Given the description of an element on the screen output the (x, y) to click on. 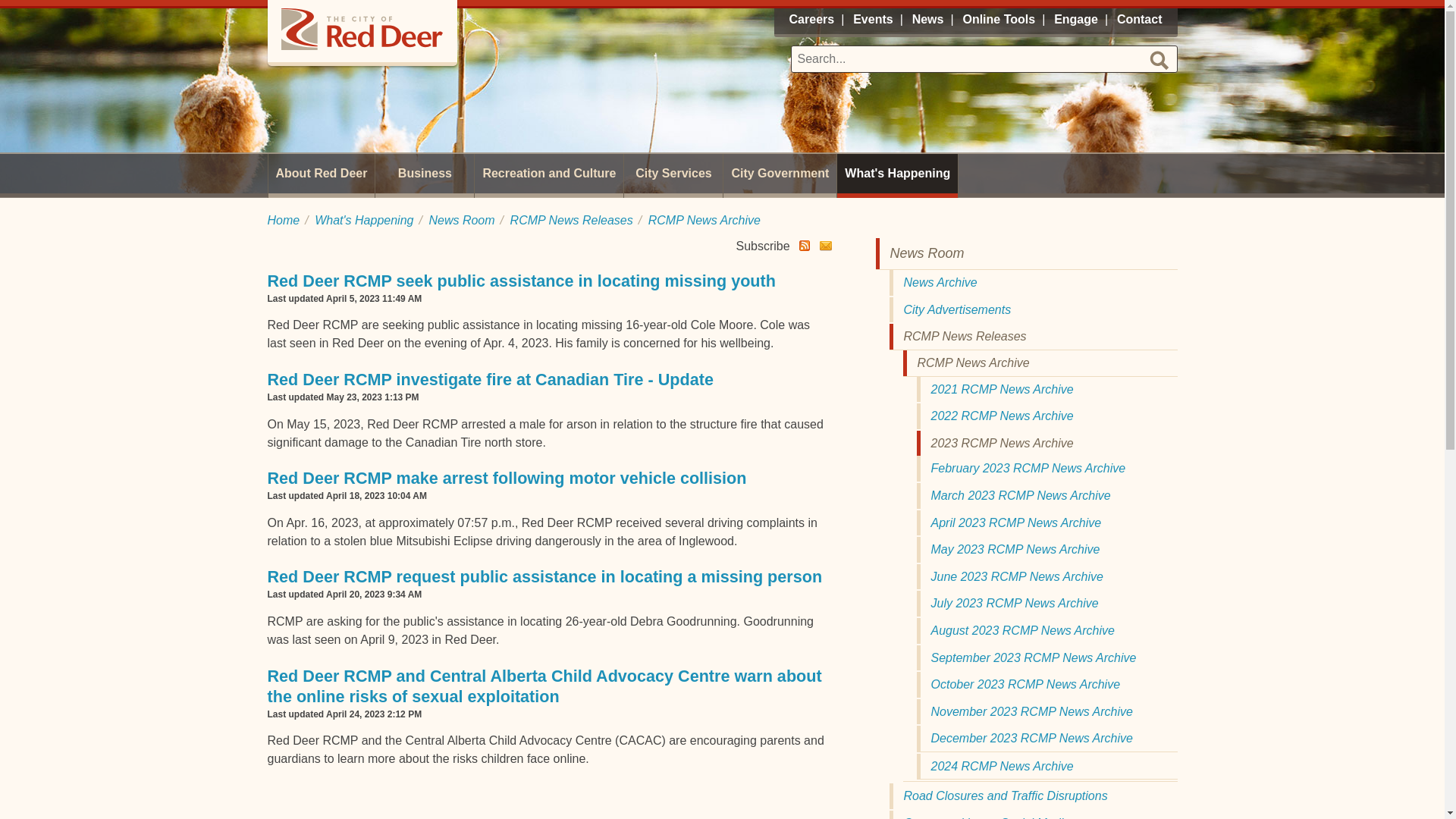
November 2023 RCMP News Archive (1045, 711)
2024 RCMP News Archive (1045, 766)
City Advertisements (1032, 309)
2021 RCMP News Archive (1045, 389)
What's Happening (363, 219)
search (1158, 59)
RCMP News Releases (1032, 336)
Home (282, 219)
News Archive (1032, 282)
RCMP News Archive (1039, 362)
The City of Red Deer (361, 31)
Enter your search terms (983, 58)
September 2023 RCMP News Archive (1045, 657)
Red Deer RCMP investigate fire at Canadian Tire - Update (489, 379)
Road Closures and Traffic Disruptions (1032, 795)
